Given the description of an element on the screen output the (x, y) to click on. 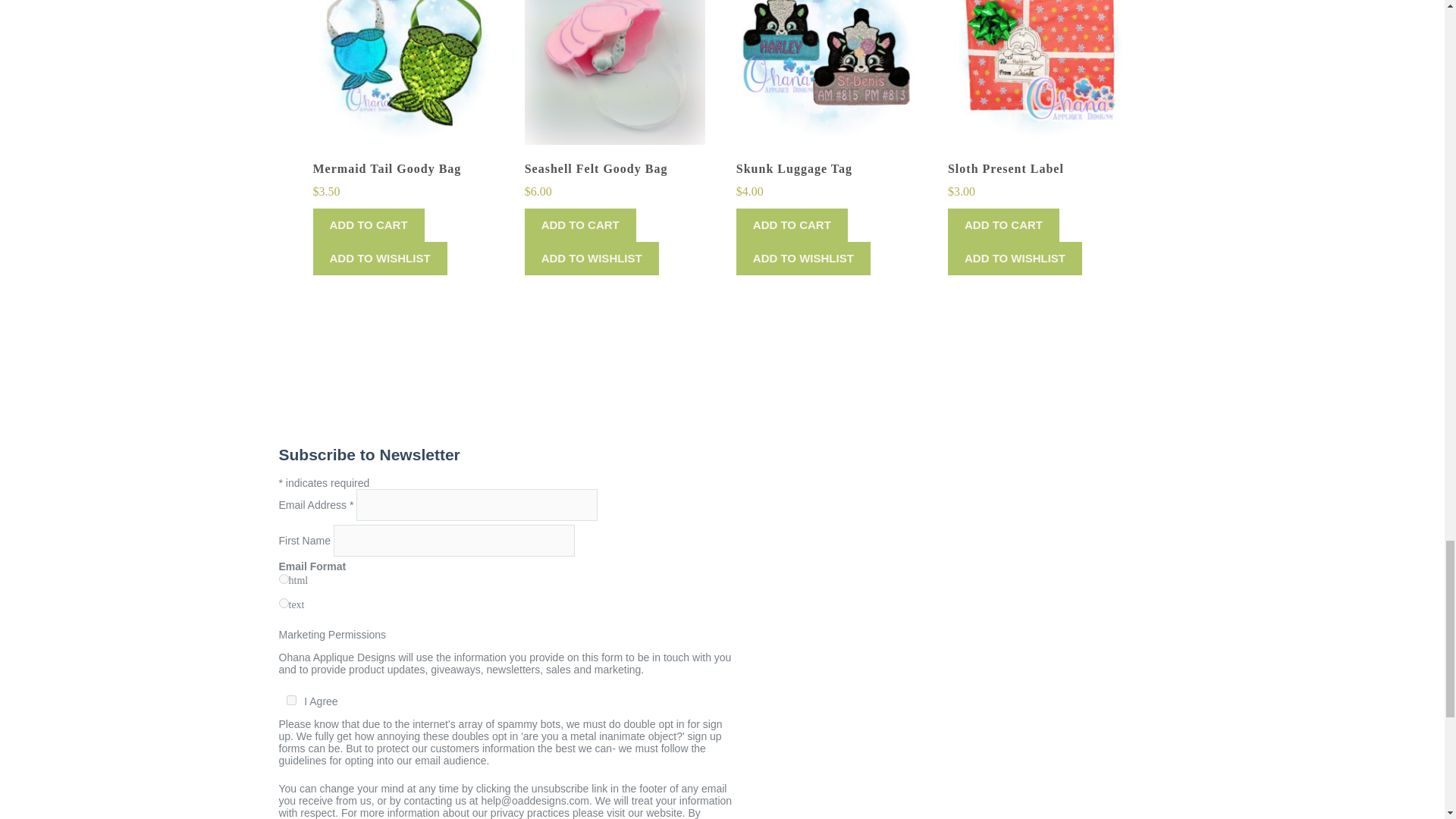
html (283, 578)
Y (291, 700)
text (283, 603)
